Given the description of an element on the screen output the (x, y) to click on. 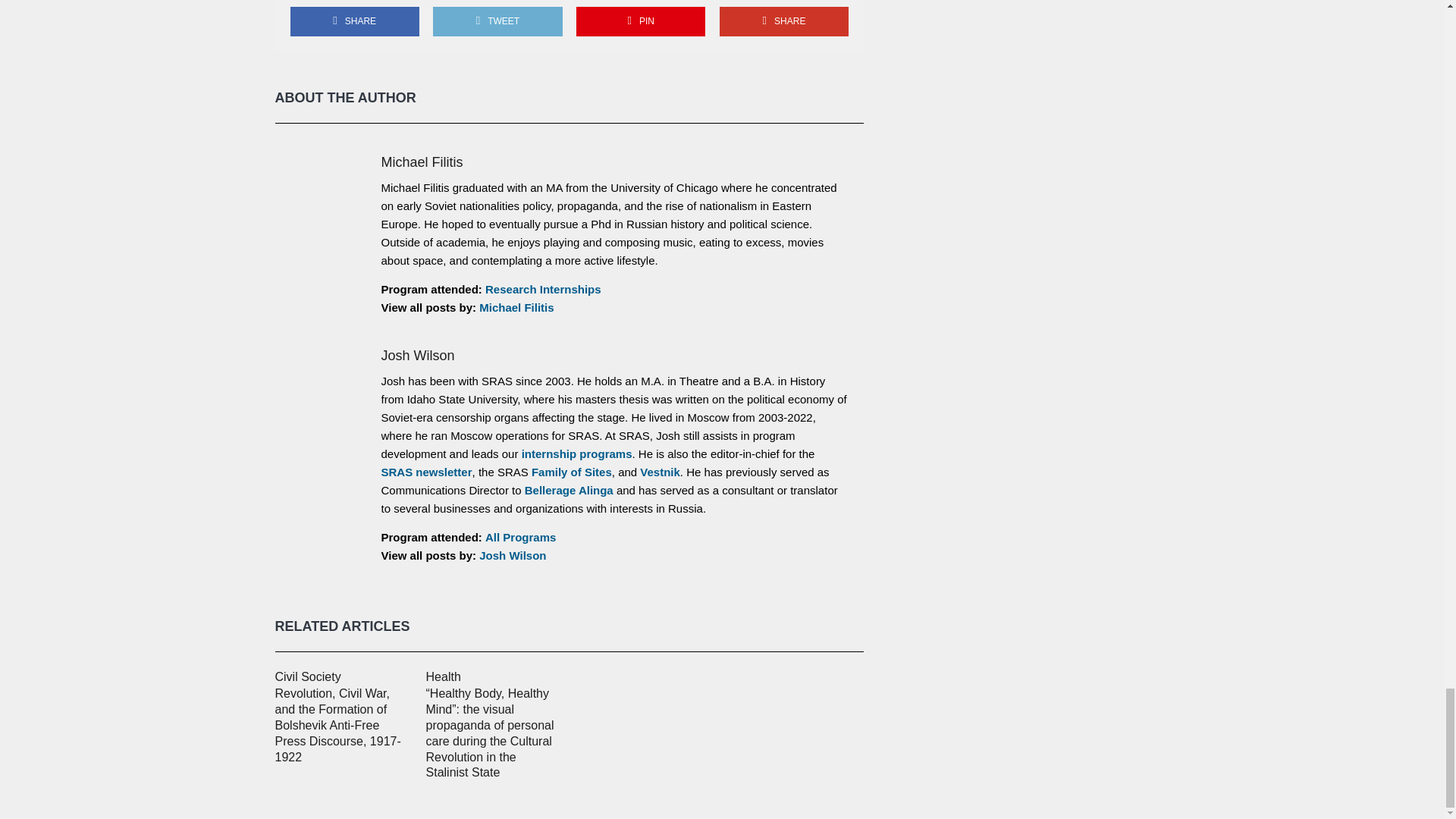
Pin This Post (640, 21)
Share on Facebook (354, 21)
Tweet This Post (497, 21)
